Given the description of an element on the screen output the (x, y) to click on. 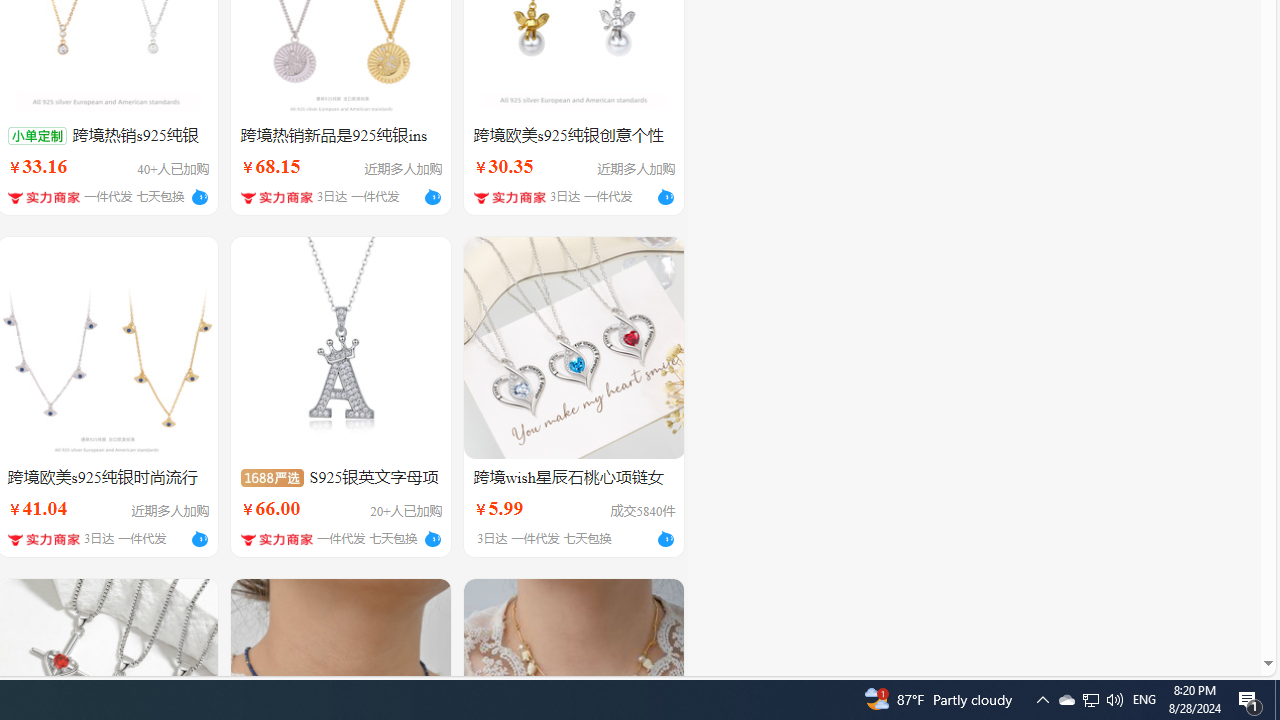
Class: shop-icon h14 (276, 539)
Class: icon (272, 477)
